Given the description of an element on the screen output the (x, y) to click on. 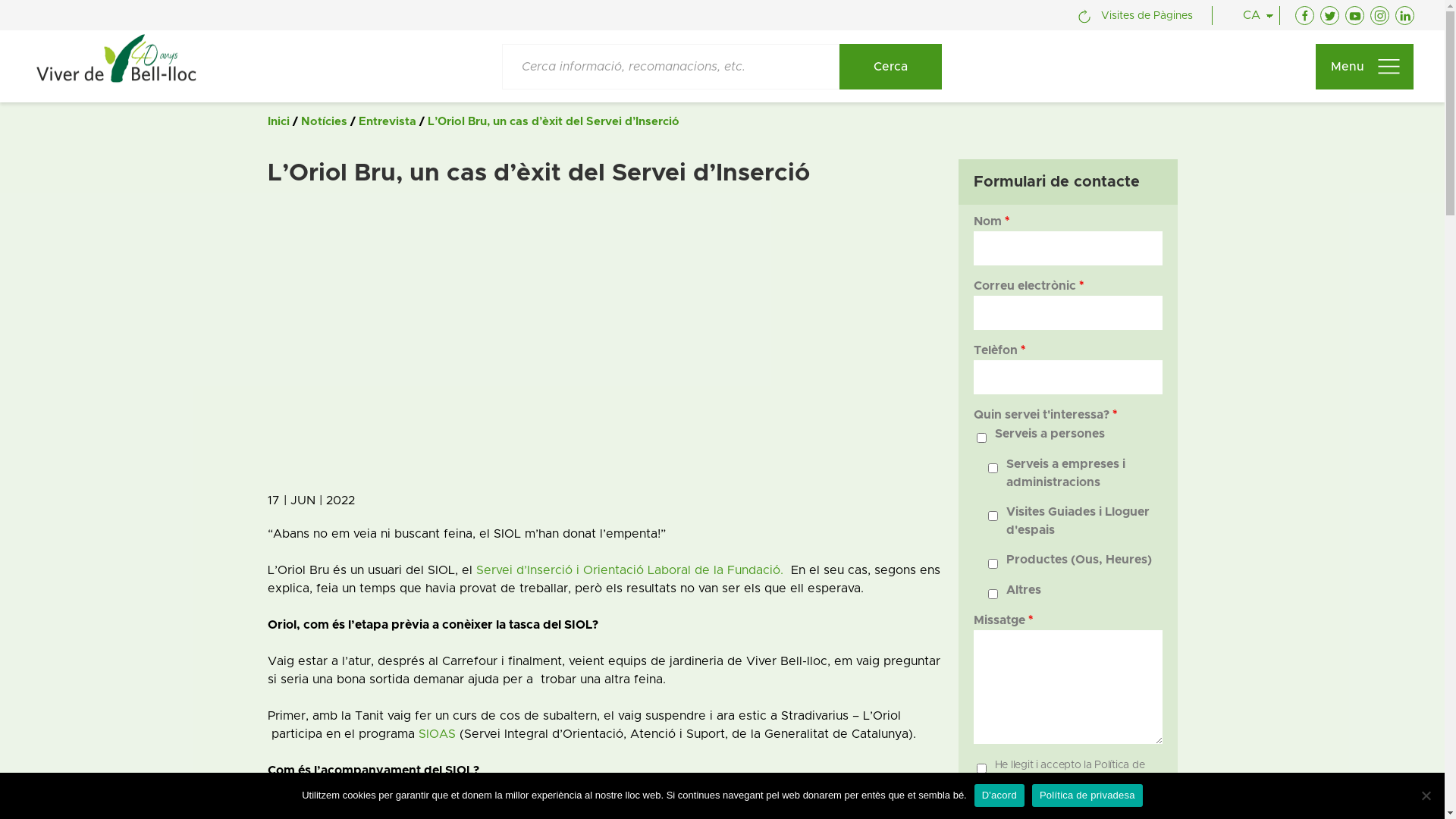
Cerca Element type: text (890, 66)
CA Element type: text (1240, 15)
Inici Element type: text (277, 121)
Facebook Element type: text (1304, 15)
No Element type: hover (1425, 795)
D'acord Element type: text (999, 795)
Twitter Element type: text (1329, 15)
SIOAS Element type: text (436, 734)
Menu Element type: text (1364, 66)
Entrevista Element type: text (386, 121)
LinkedIn Element type: text (1404, 15)
Instagram Element type: text (1379, 15)
YouTube Element type: text (1354, 15)
